Given the description of an element on the screen output the (x, y) to click on. 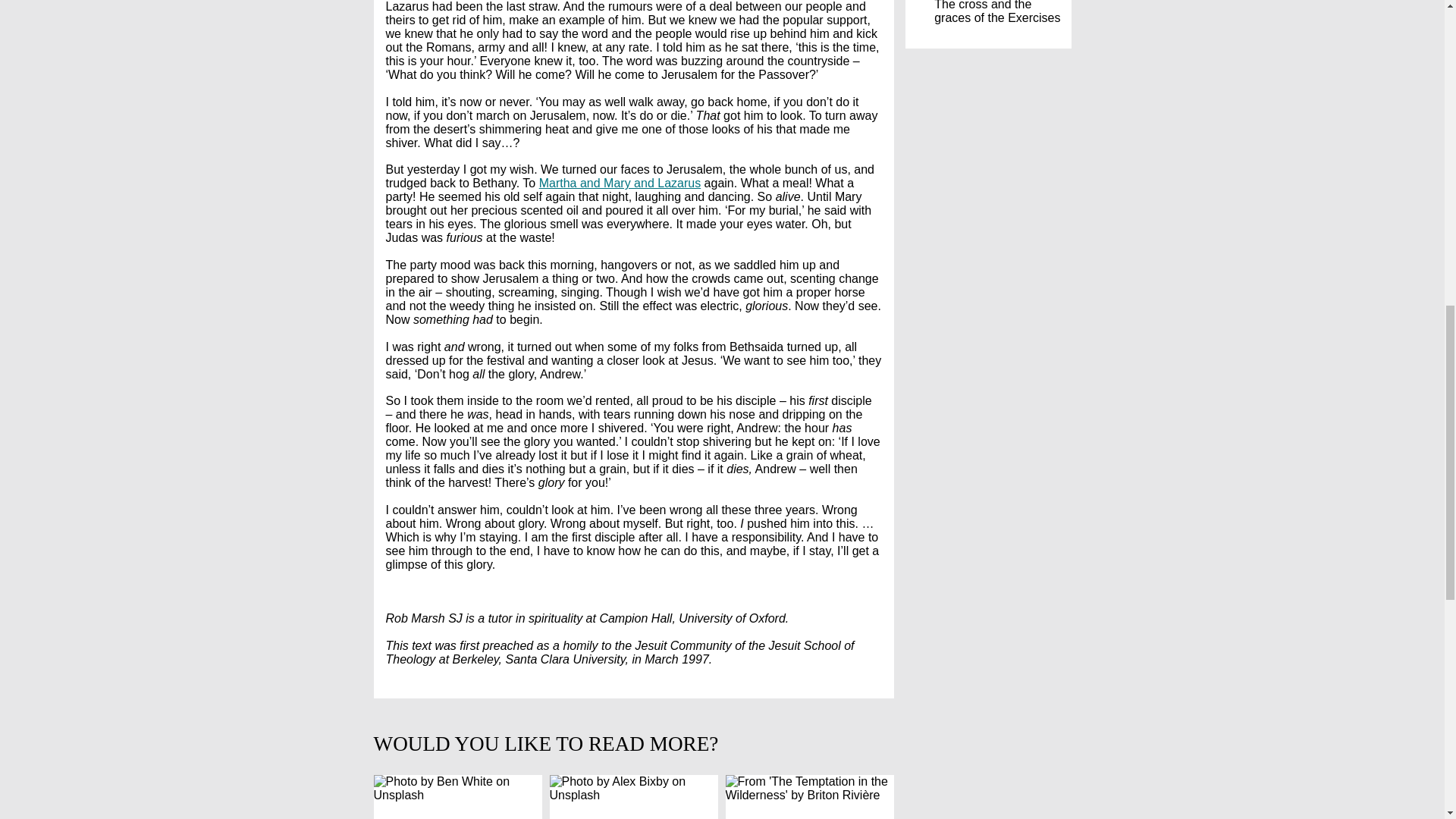
Martha and Mary and Lazarus (619, 182)
